Given the description of an element on the screen output the (x, y) to click on. 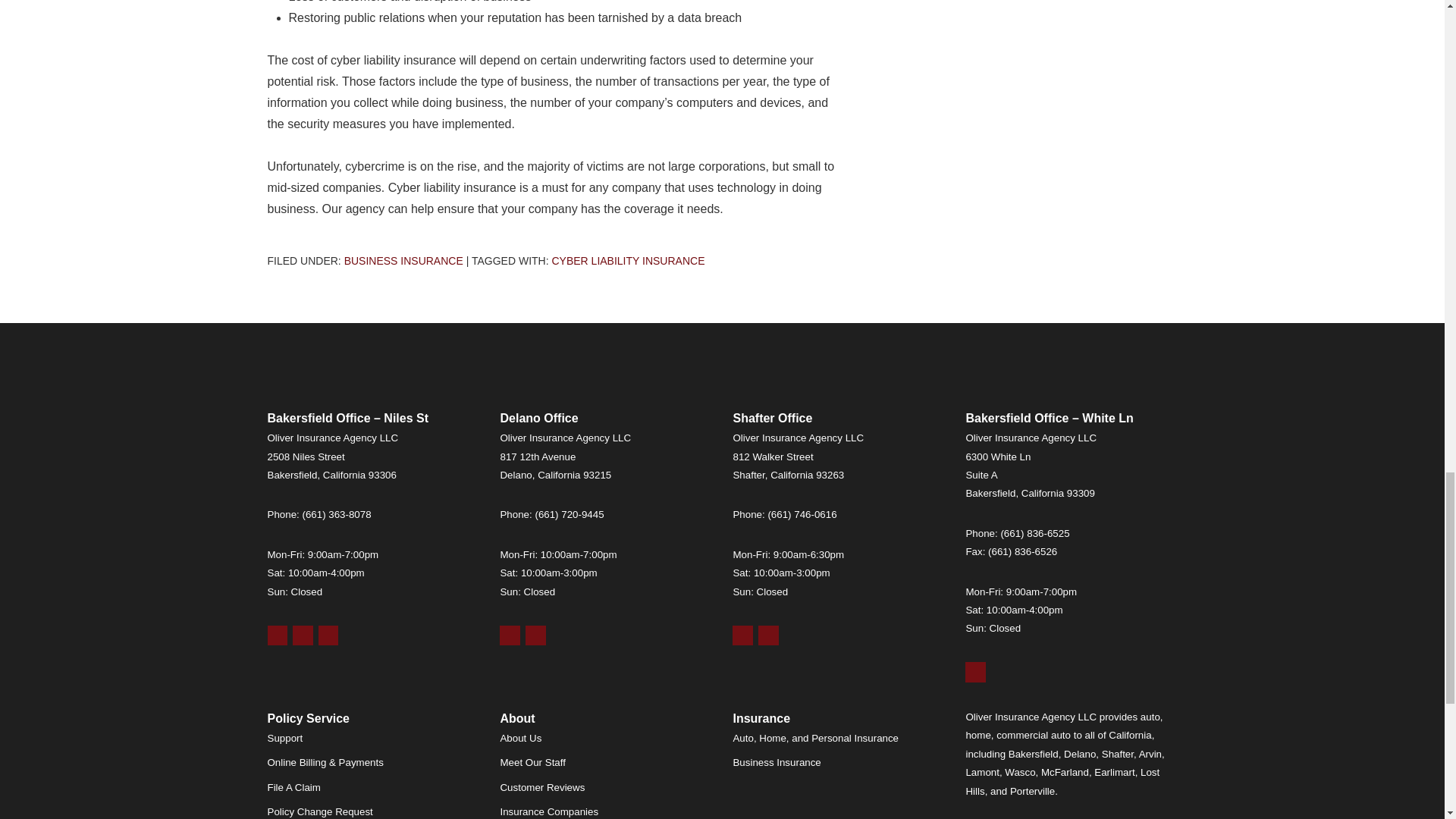
Facebook (328, 635)
Facebook (535, 635)
Yelp (302, 635)
Facebook (768, 635)
Google Maps (276, 635)
Google Maps (742, 635)
Google Maps (509, 635)
Business Insurance (403, 260)
Google Maps (975, 671)
Cyber Liability Insurance (627, 260)
